Given the description of an element on the screen output the (x, y) to click on. 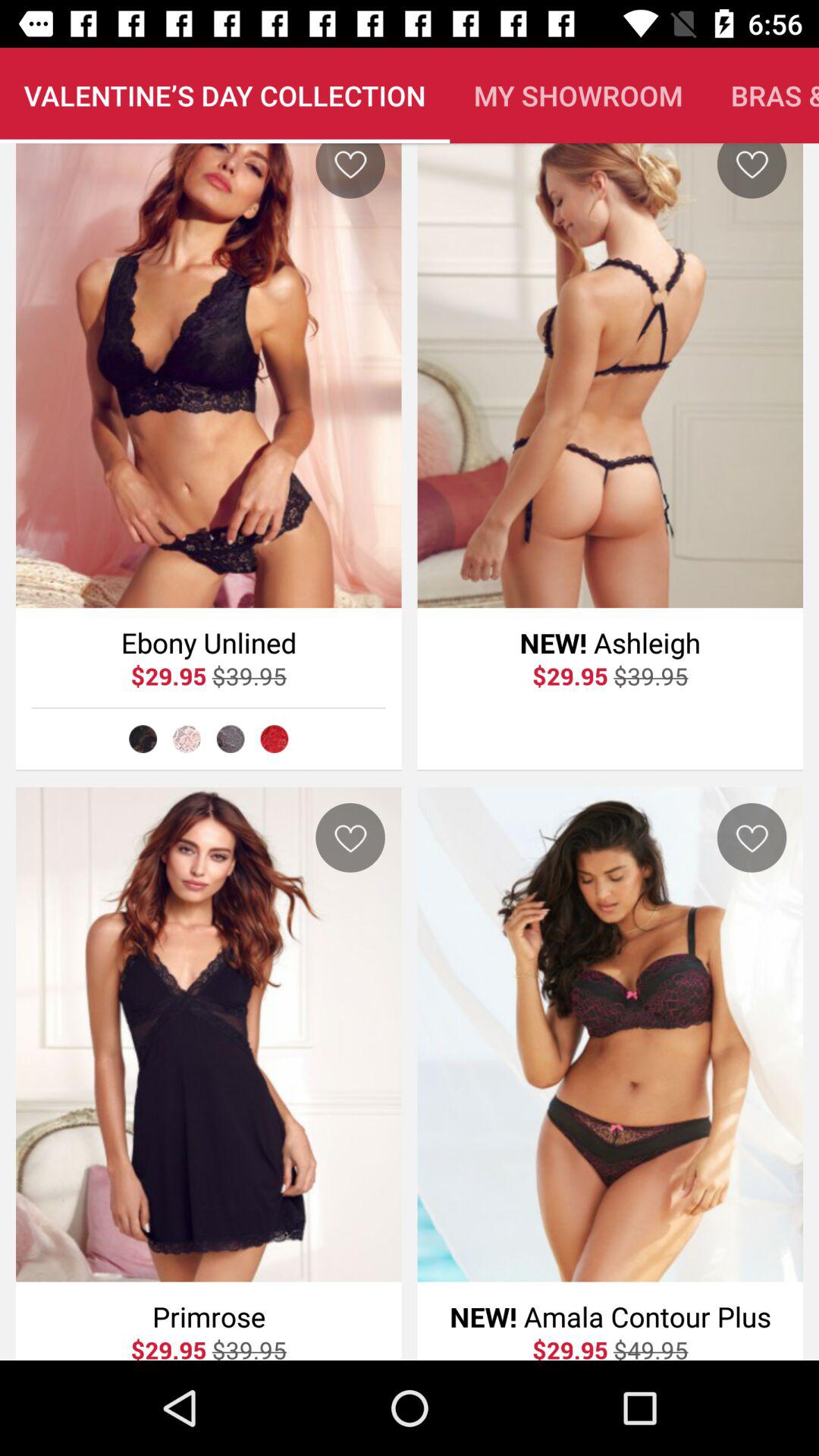
select first color option (142, 738)
